Given the description of an element on the screen output the (x, y) to click on. 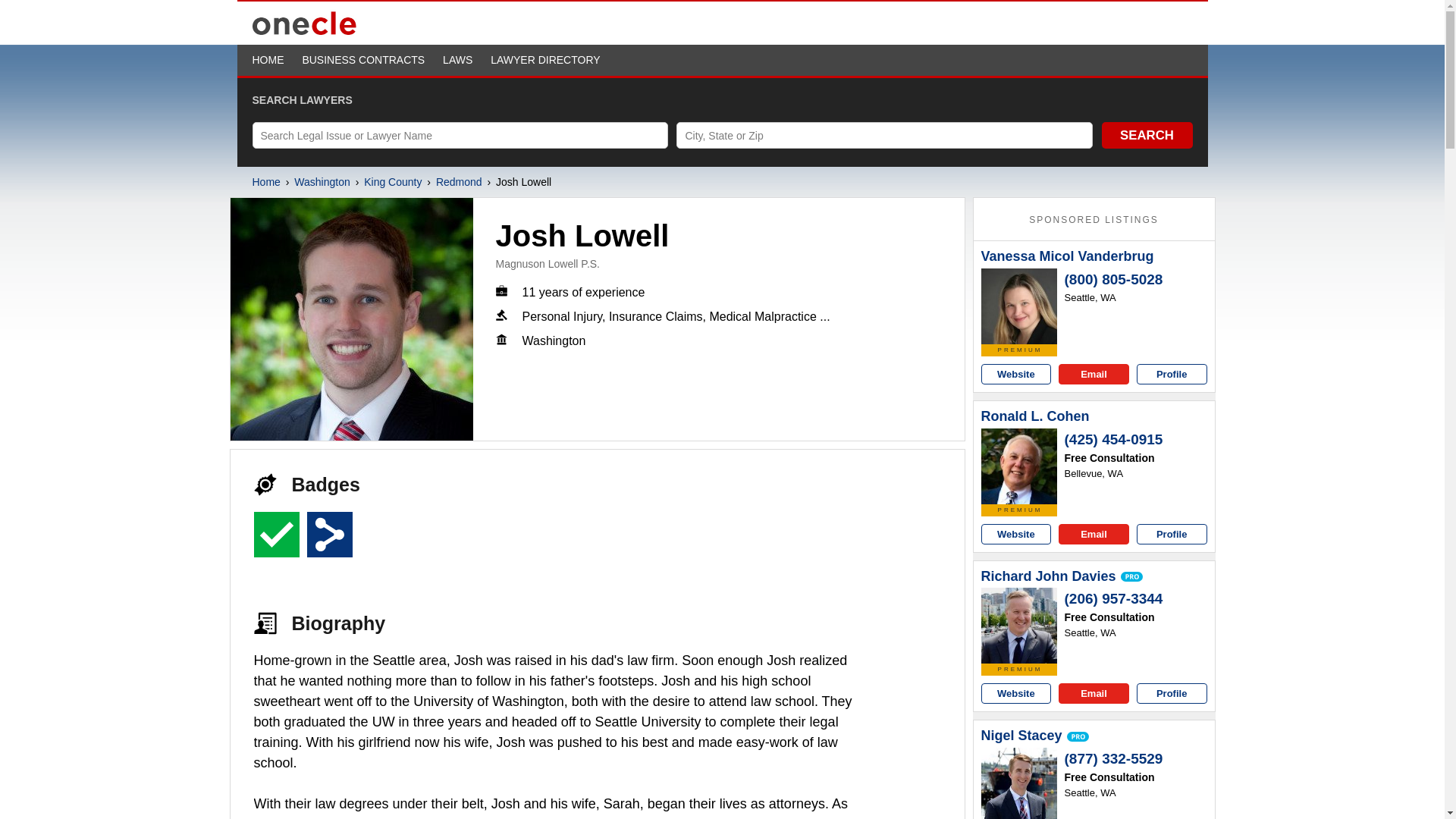
Vanessa Micol Vanderbrug (1019, 305)
Home (265, 181)
Washington (321, 181)
Ronald L. Cohen (1035, 416)
BUSINESS CONTRACTS (363, 60)
Email (1093, 373)
Ronald L. Cohen (1019, 466)
Josh Lowell (351, 319)
LAWS (456, 60)
Search Legal Issue or Lawyer Name (459, 135)
